Given the description of an element on the screen output the (x, y) to click on. 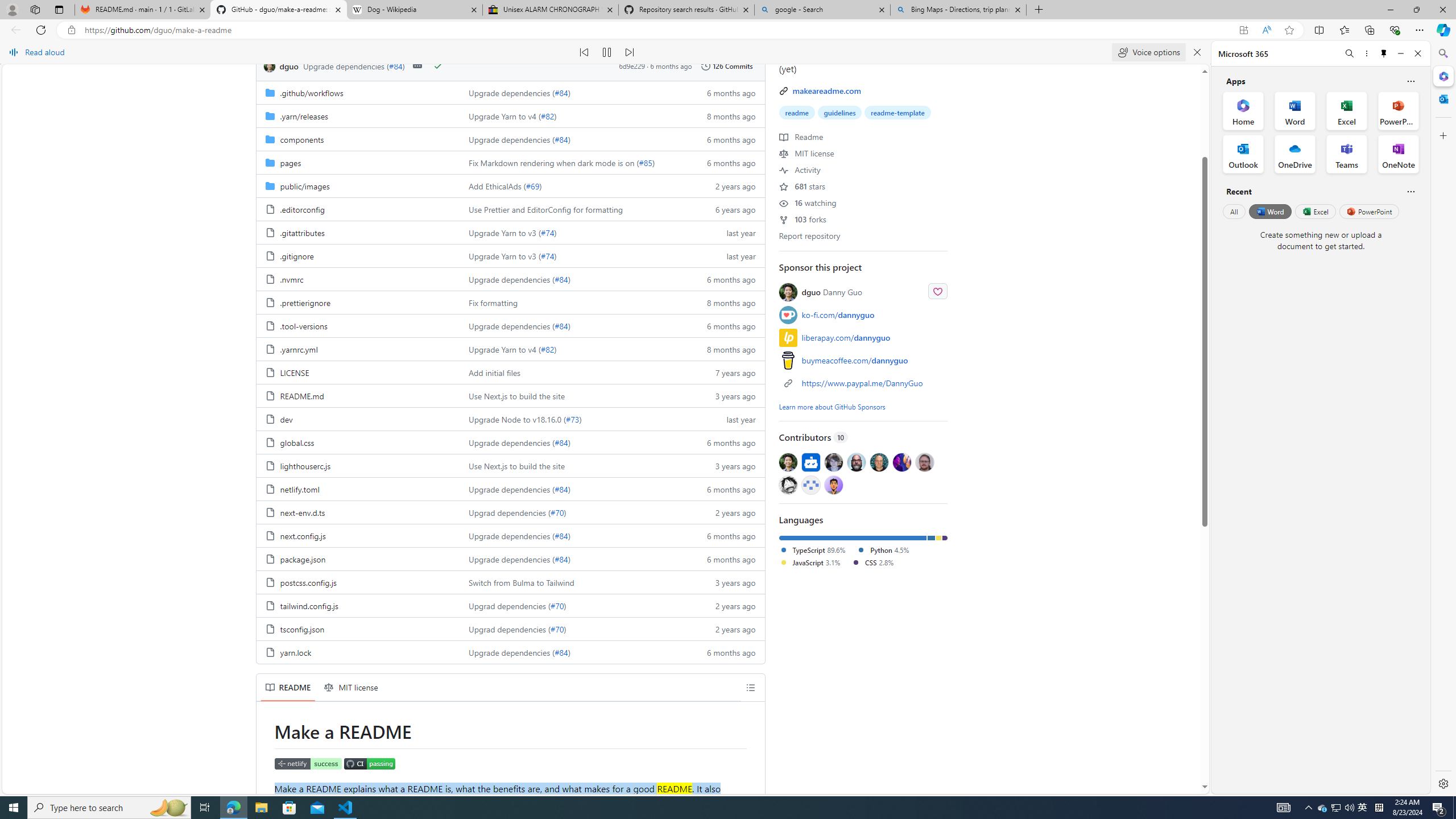
yarn.lock, (File) (358, 651)
 Readme (801, 136)
PowerPoint (1369, 210)
Use Next.js to build the site (516, 465)
@web3Gurung (833, 484)
AutomationID: folder-row-18 (510, 512)
681 stars (801, 185)
Add EthicalAds (#69) (573, 185)
package.json, (File) (358, 558)
MIT license (351, 687)
AutomationID: folder-row-16 (510, 465)
#70 (557, 628)
